Given the description of an element on the screen output the (x, y) to click on. 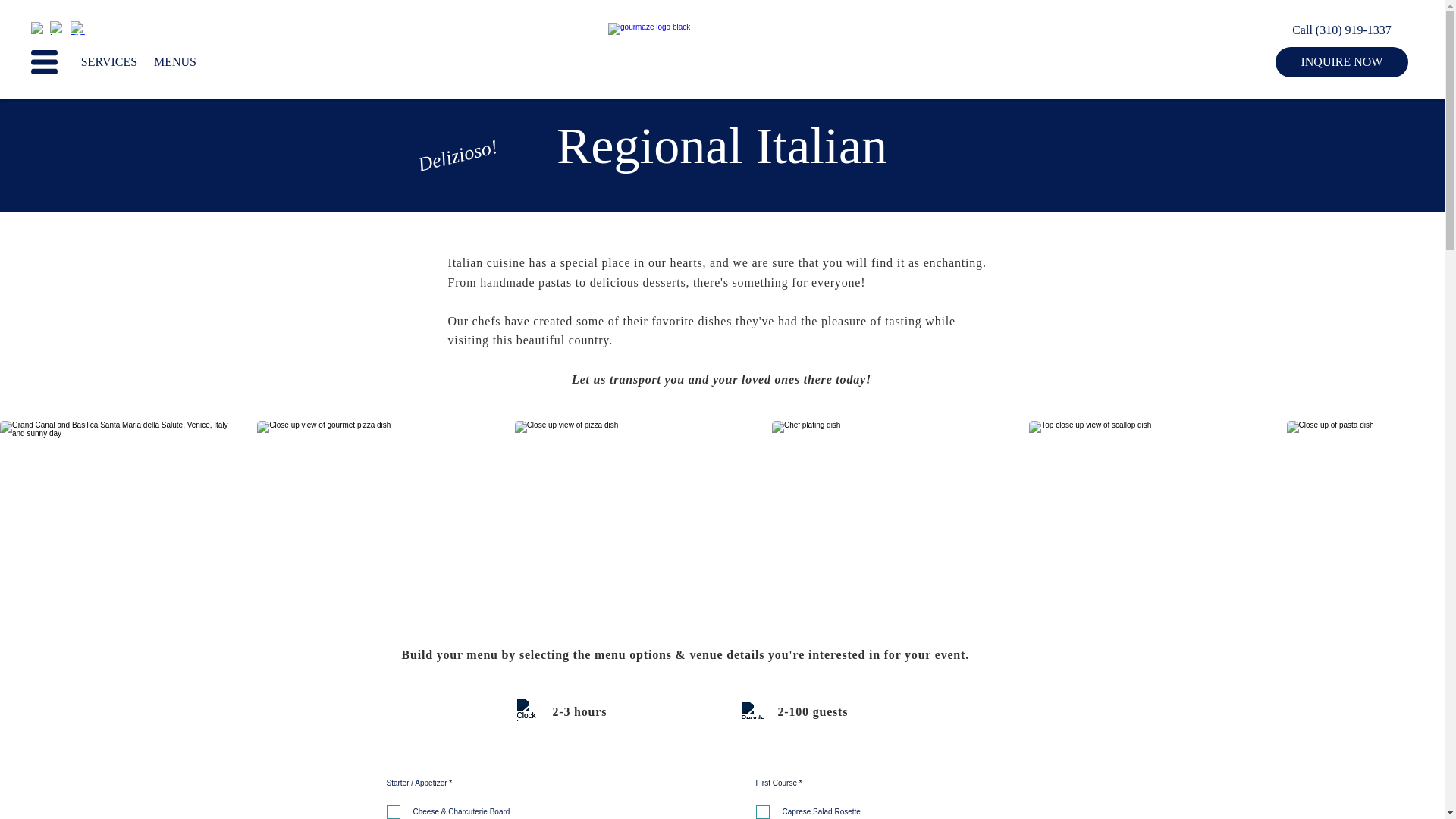
SERVICES (108, 61)
MENUS (175, 61)
clock-fill.png (528, 710)
INQUIRE NOW (1341, 61)
